Given the description of an element on the screen output the (x, y) to click on. 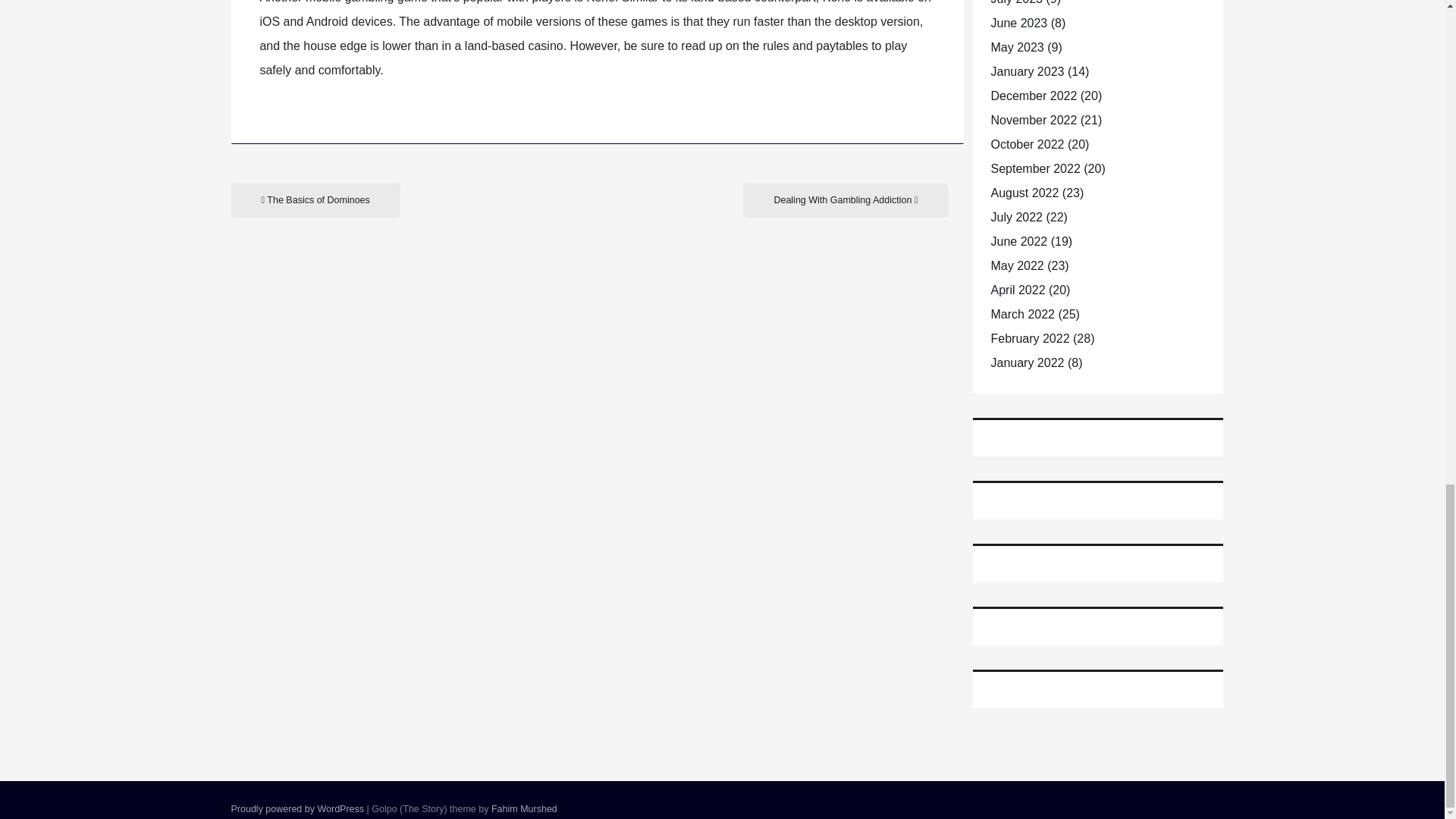
December 2022 (1033, 95)
January 2023 (1027, 71)
November 2022 (1033, 119)
Dealing With Gambling Addiction (844, 200)
October 2022 (1027, 144)
May 2023 (1016, 47)
July 2023 (1016, 2)
The Basics of Dominoes (314, 200)
June 2023 (1018, 22)
September 2022 (1035, 168)
